Given the description of an element on the screen output the (x, y) to click on. 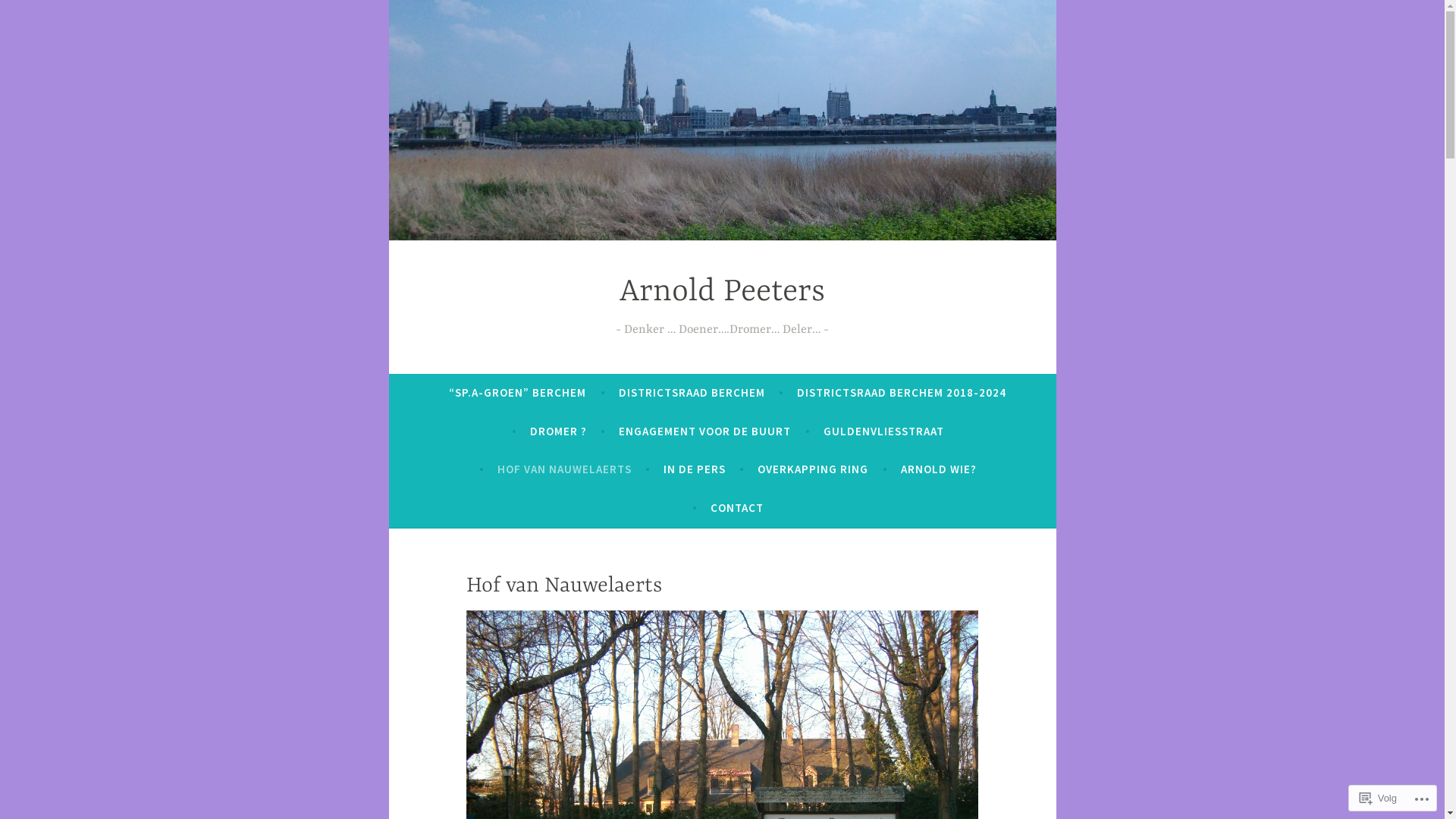
CONTACT Element type: text (736, 507)
ARNOLD WIE? Element type: text (938, 469)
HOF VAN NAUWELAERTS Element type: text (564, 469)
DISTRICTSRAAD BERCHEM Element type: text (691, 392)
OVERKAPPING RING Element type: text (812, 469)
ENGAGEMENT VOOR DE BUURT Element type: text (704, 431)
IN DE PERS Element type: text (694, 469)
DISTRICTSRAAD BERCHEM 2018-2024 Element type: text (901, 392)
Volg Element type: text (1377, 797)
GULDENVLIESSTRAAT Element type: text (883, 431)
DROMER ? Element type: text (558, 431)
Arnold Peeters Element type: text (722, 292)
